Given the description of an element on the screen output the (x, y) to click on. 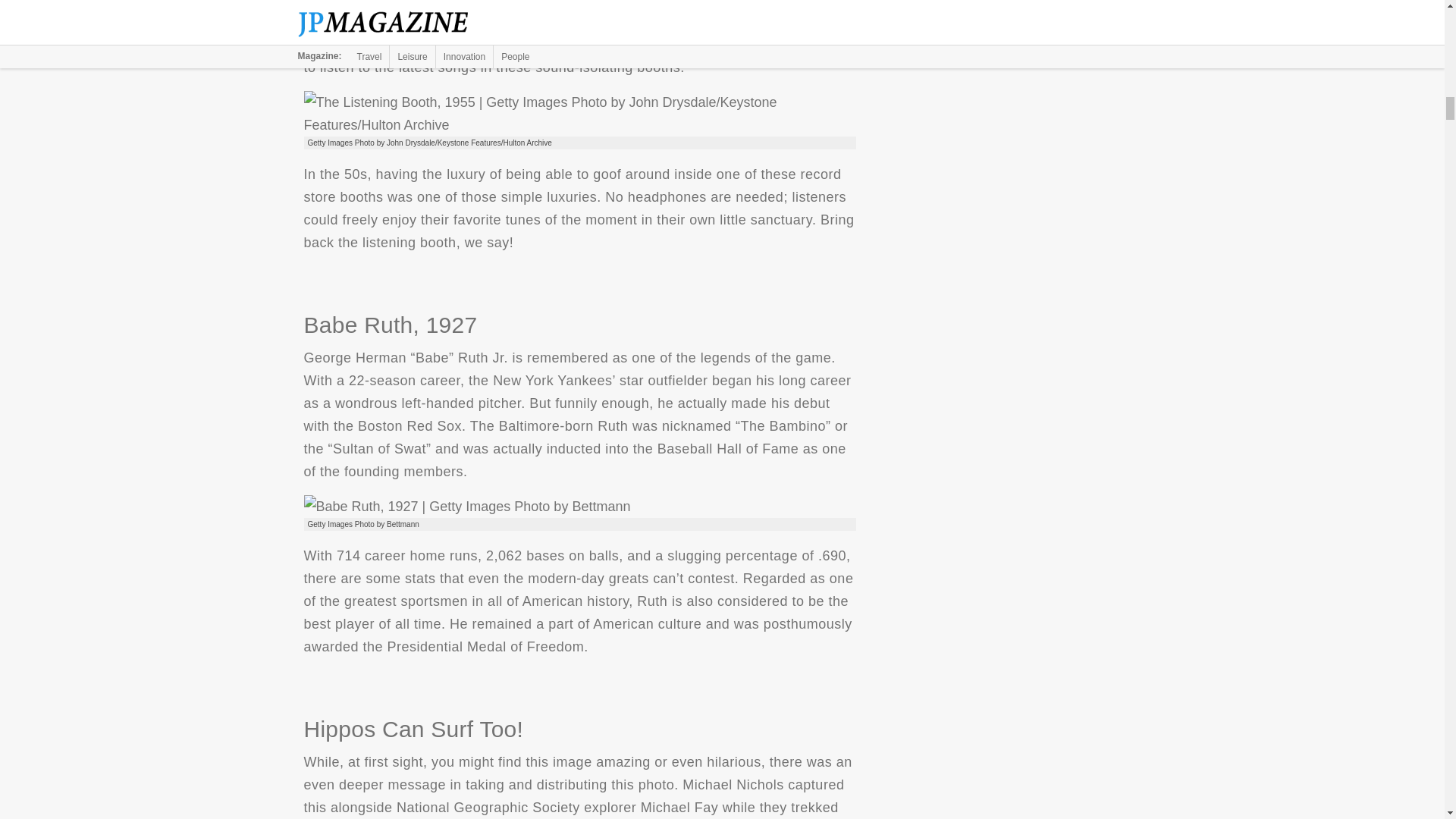
The Listening Booth, 1955 (579, 113)
Babe Ruth, 1927 (466, 506)
